Given the description of an element on the screen output the (x, y) to click on. 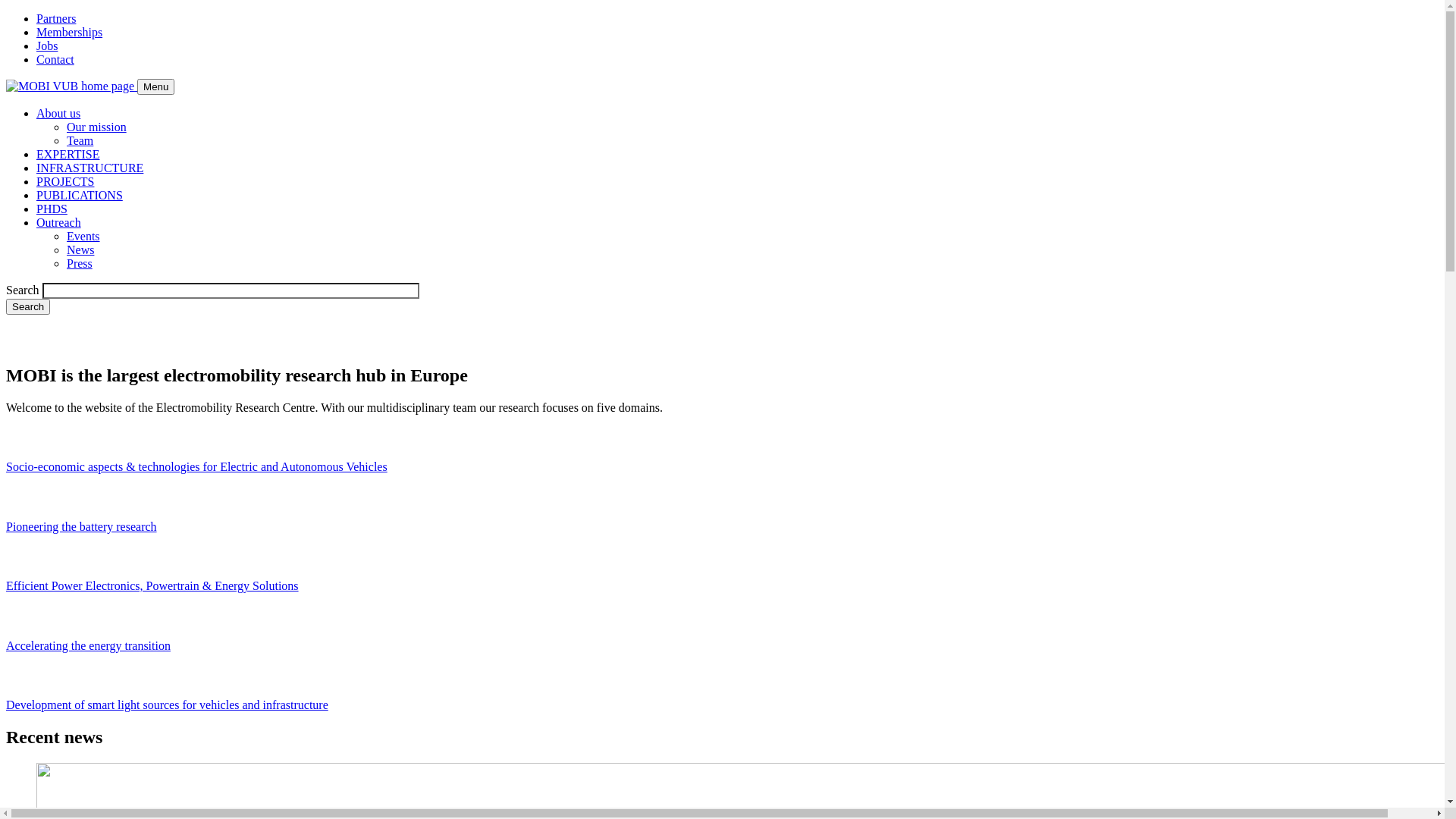
Go to the homepage Element type: hover (71, 85)
Partners Element type: text (55, 18)
Team Element type: text (79, 140)
Memberships Element type: text (69, 31)
Our mission Element type: text (96, 126)
Outreach Element type: text (58, 222)
Menu Element type: text (155, 86)
Accelerating the energy transition Element type: text (88, 645)
Skip to main content Element type: text (6, 12)
News Element type: text (80, 249)
PHDS Element type: text (51, 208)
Jobs Element type: text (46, 45)
Events Element type: text (83, 235)
Search Element type: text (28, 306)
PUBLICATIONS Element type: text (79, 194)
PROJECTS Element type: text (65, 181)
Efficient Power Electronics, Powertrain & Energy Solutions Element type: text (152, 585)
INFRASTRUCTURE Element type: text (89, 167)
EXPERTISE Element type: text (67, 153)
Contact Element type: text (55, 59)
About us Element type: text (58, 112)
Press Element type: text (79, 263)
Pioneering the battery research Element type: text (81, 526)
